Given the description of an element on the screen output the (x, y) to click on. 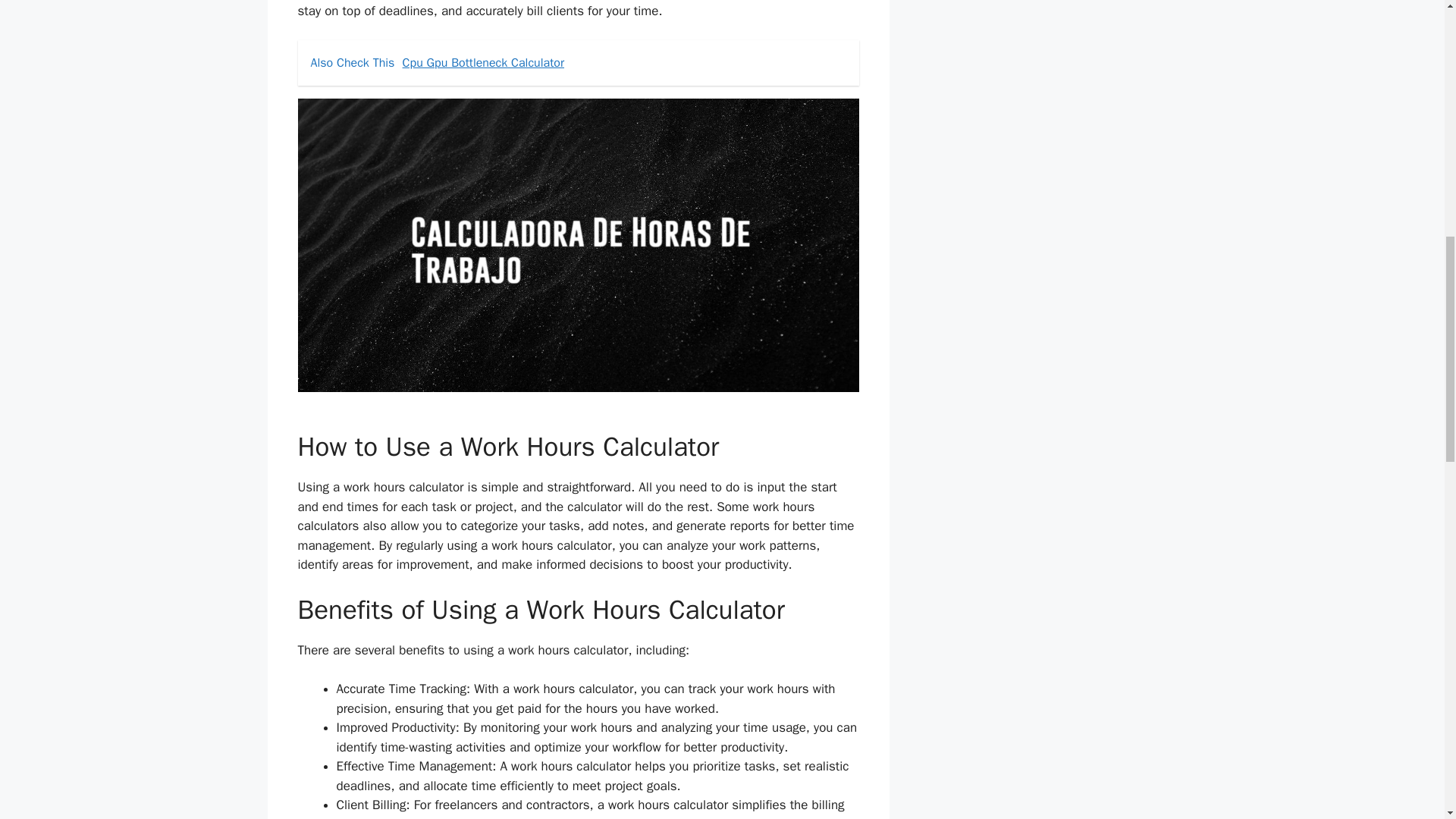
Also Check This  Cpu Gpu Bottleneck Calculator (578, 62)
